Given the description of an element on the screen output the (x, y) to click on. 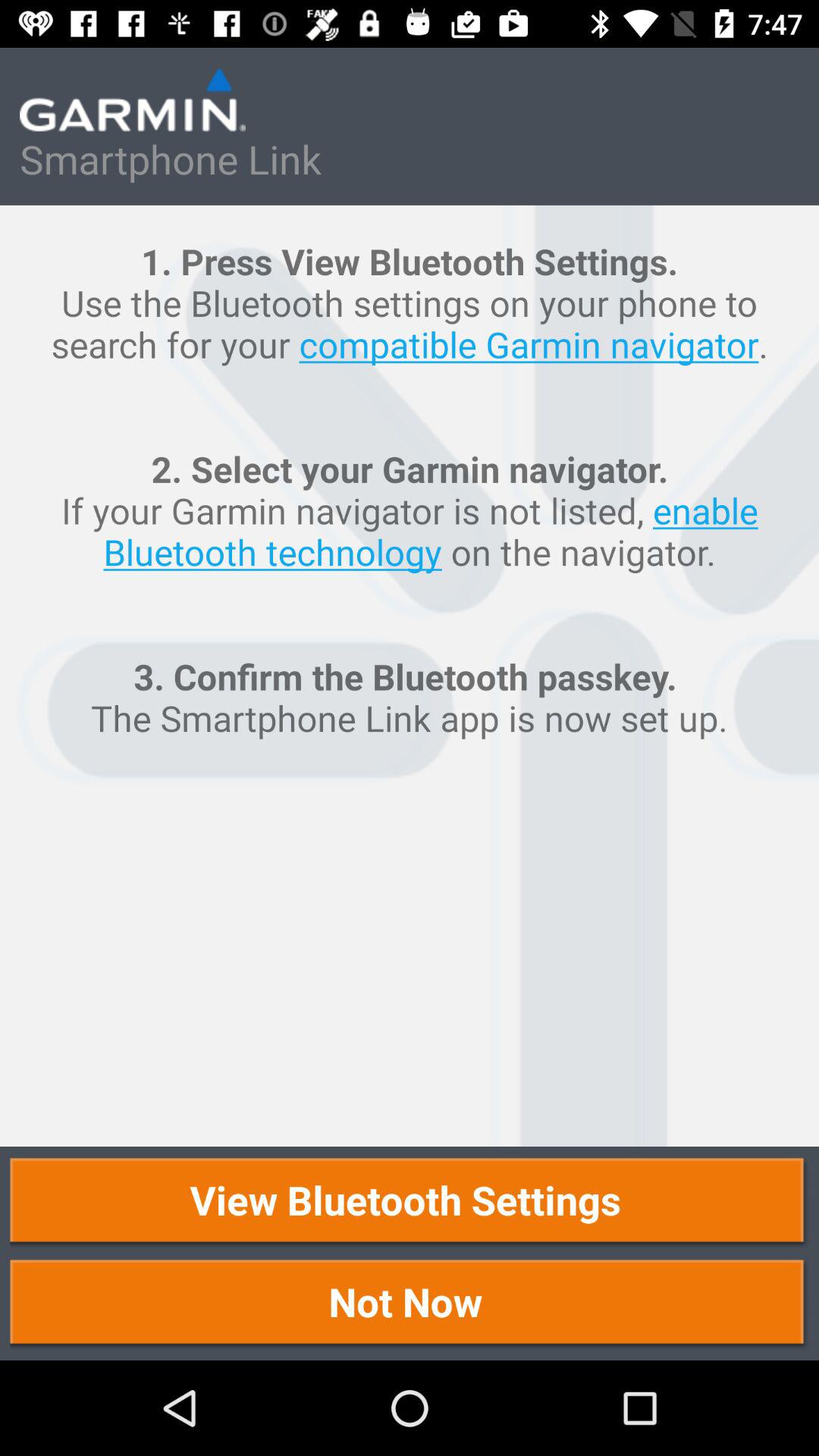
click item below view bluetooth settings item (409, 1304)
